Given the description of an element on the screen output the (x, y) to click on. 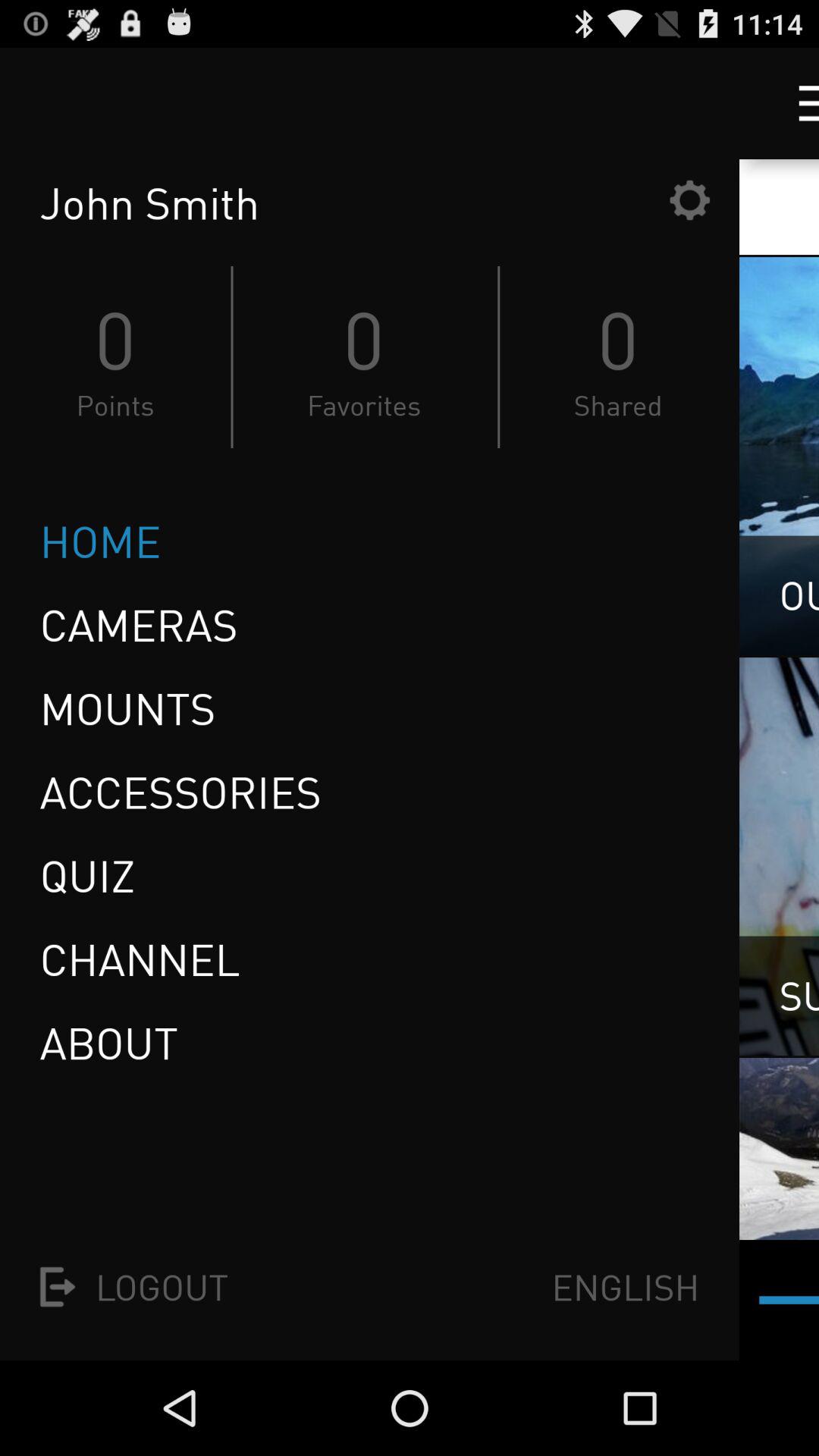
turn off the icon to the right of john smith (689, 199)
